Given the description of an element on the screen output the (x, y) to click on. 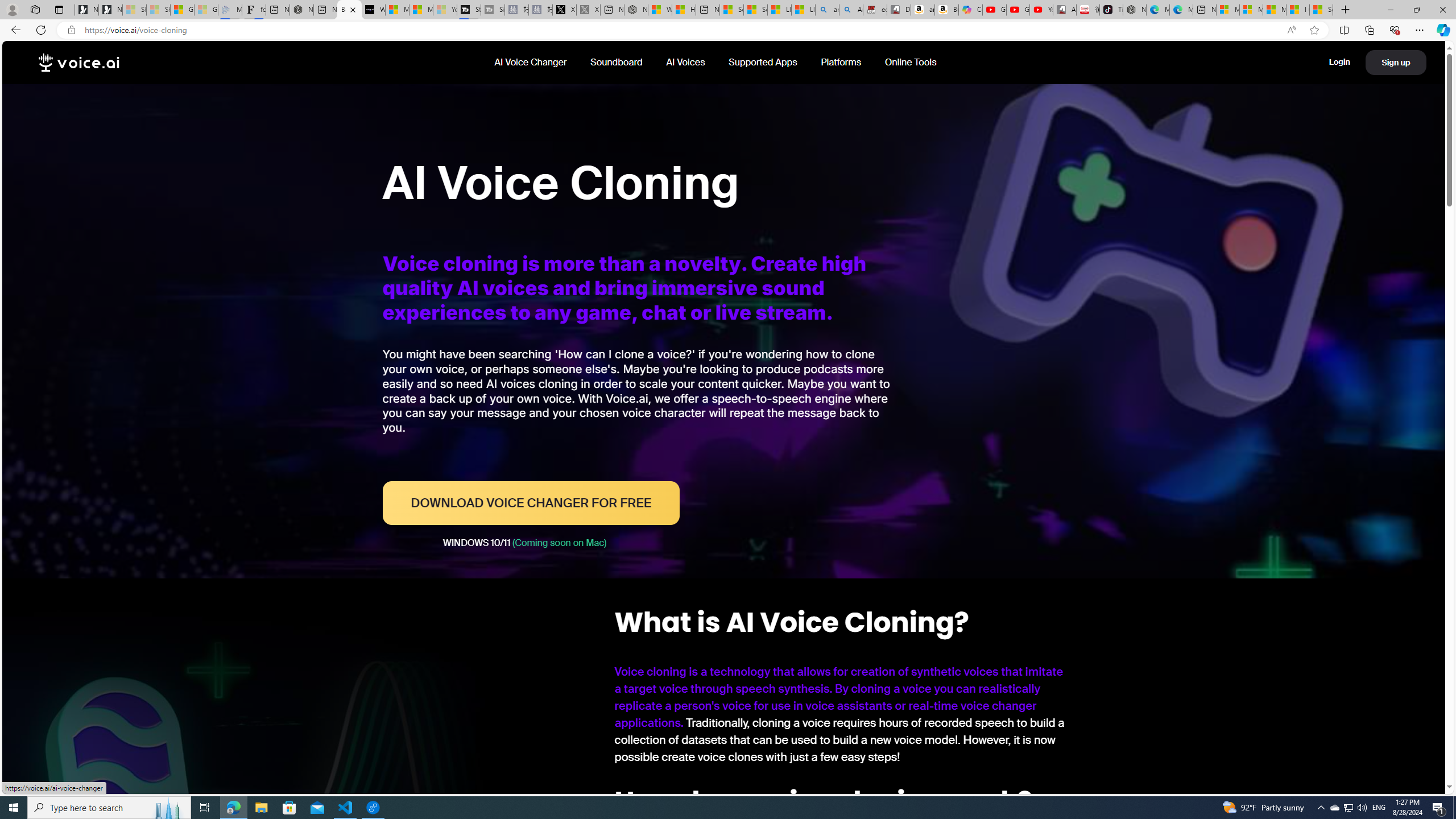
Best AI Voice Cloning Software For Free - Voice.AI (349, 9)
Huge shark washes ashore at New York City beach | Watch (683, 9)
amazon.in/dp/B0CX59H5W7/?tag=gsmcom05-21 (922, 9)
voice.ai (79, 62)
